Given the description of an element on the screen output the (x, y) to click on. 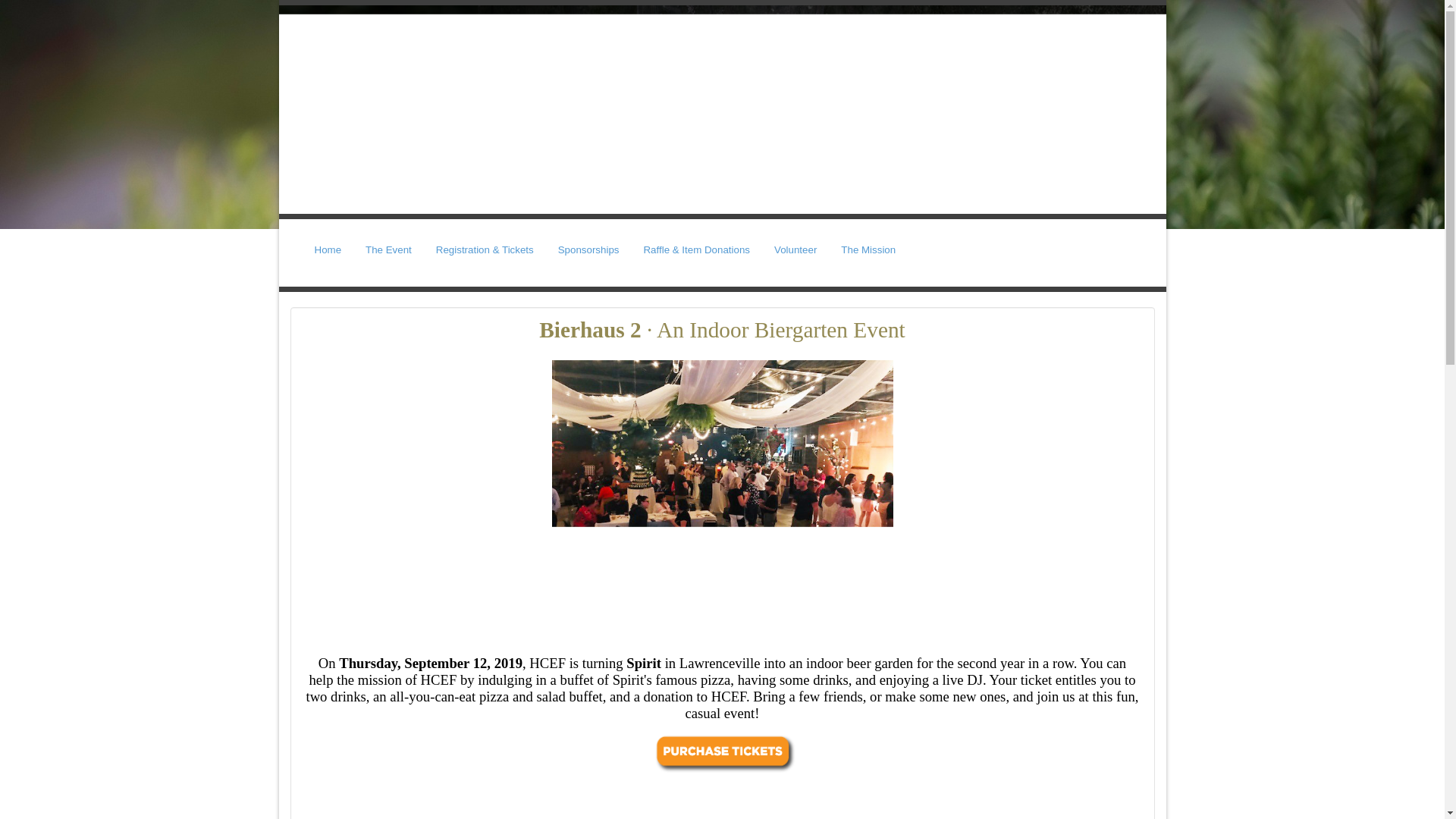
Sponsorships (588, 249)
Volunteer (795, 249)
The Mission (868, 249)
Home (328, 249)
The Event (388, 249)
